Given the description of an element on the screen output the (x, y) to click on. 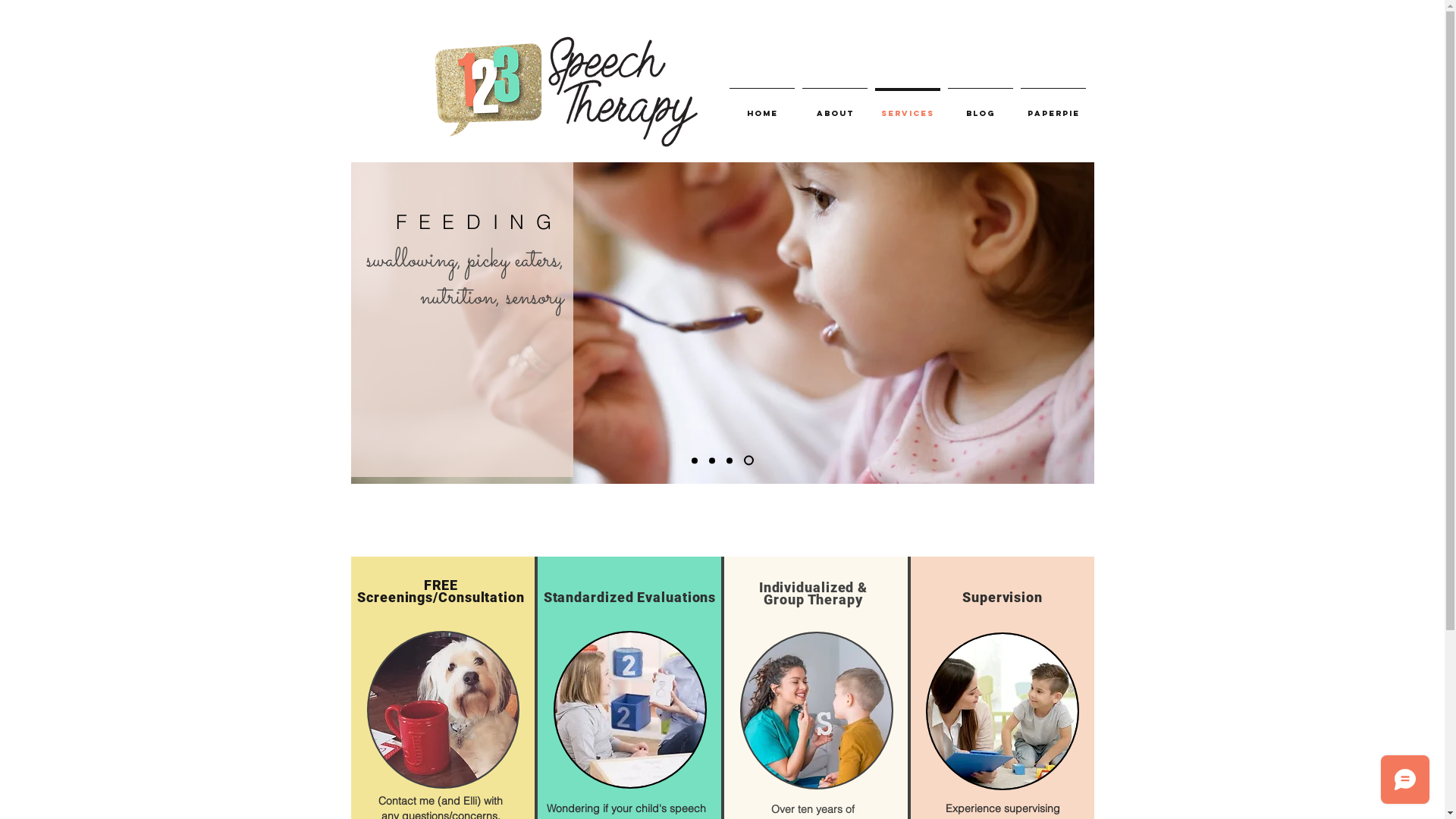
BLOG Element type: text (980, 106)
guy2.jpg Element type: hover (816, 710)
ABOUT Element type: text (834, 106)
guy2.jpg Element type: hover (1001, 711)
HOME Element type: text (761, 106)
guy2.jpg Element type: hover (629, 709)
PAPERPIE Element type: text (1052, 106)
SERVICES Element type: text (907, 106)
